Given the description of an element on the screen output the (x, y) to click on. 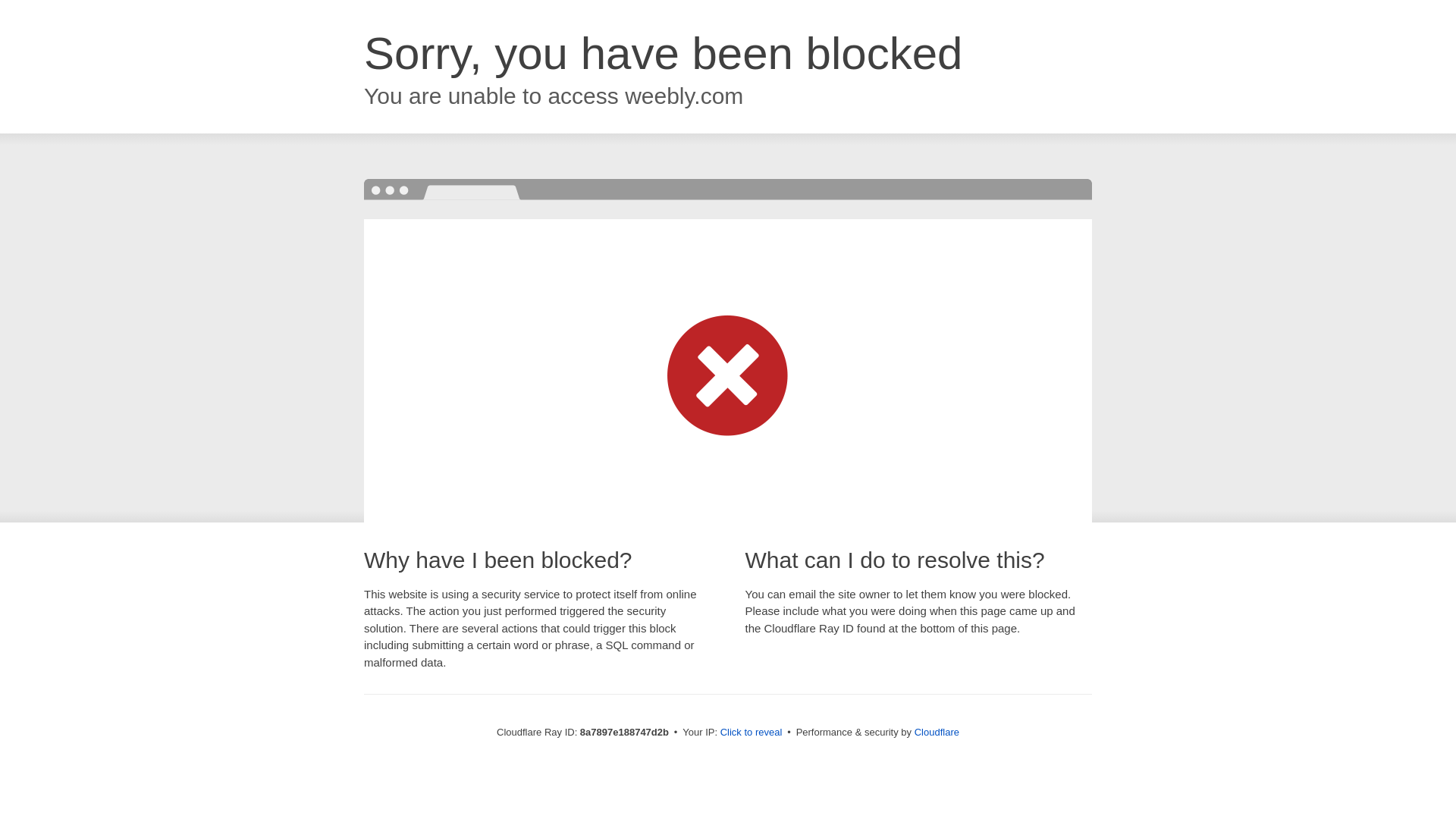
Click to reveal (751, 732)
Cloudflare (936, 731)
